Given the description of an element on the screen output the (x, y) to click on. 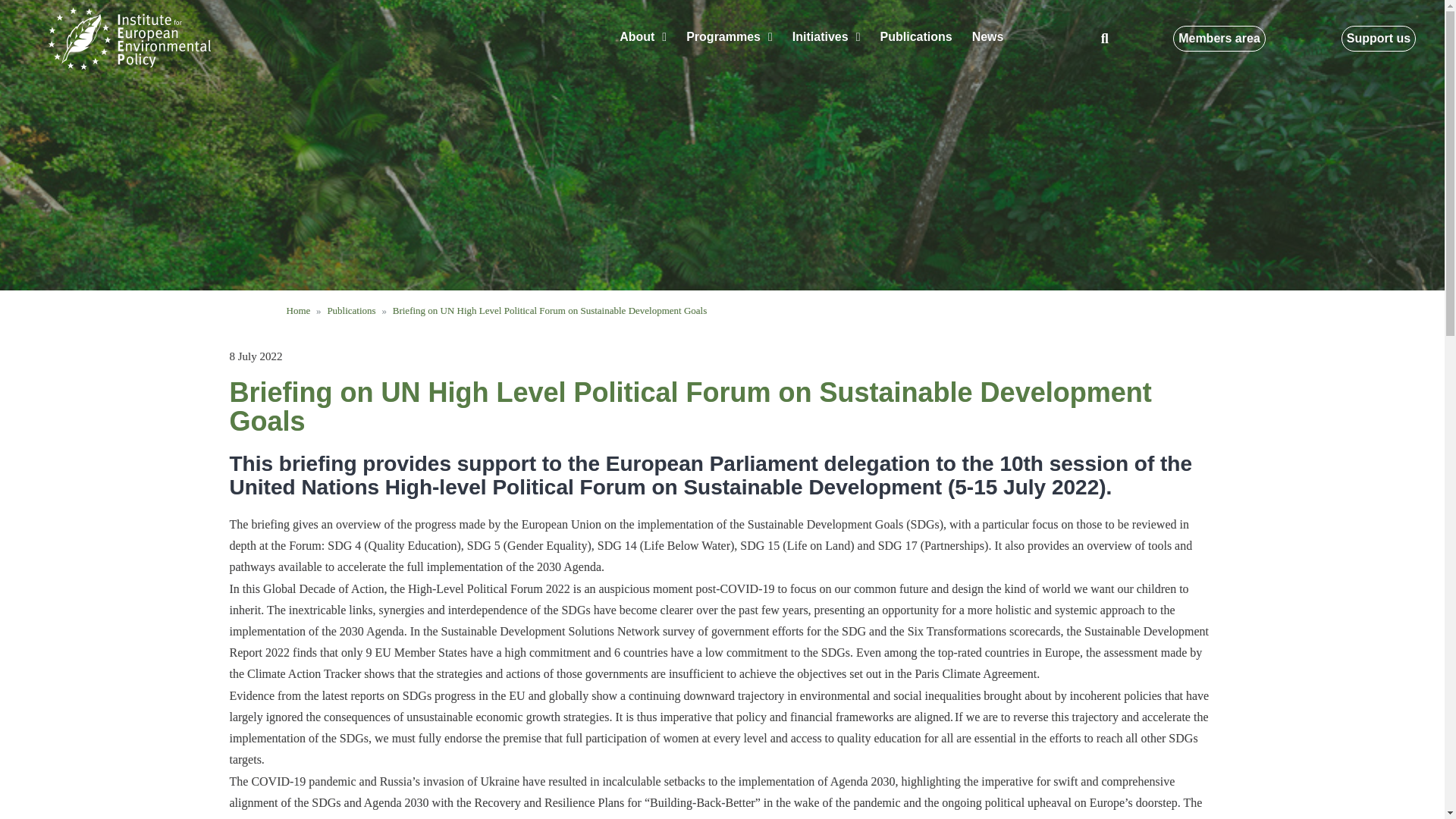
About (643, 36)
Publications (916, 36)
Programmes (730, 36)
News (987, 36)
Initiatives (826, 36)
